Given the description of an element on the screen output the (x, y) to click on. 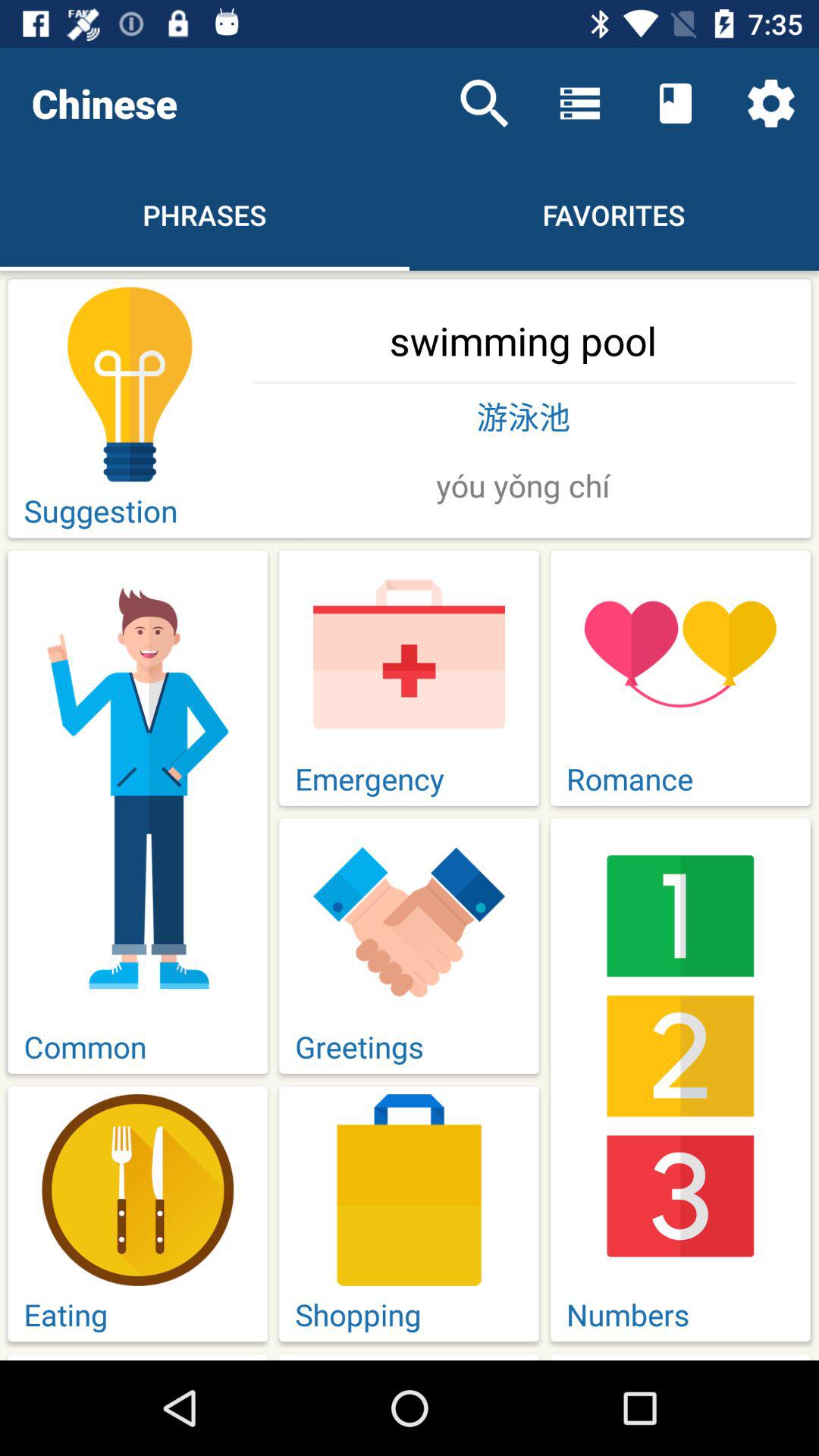
choose the icon above the favorites (579, 103)
